Given the description of an element on the screen output the (x, y) to click on. 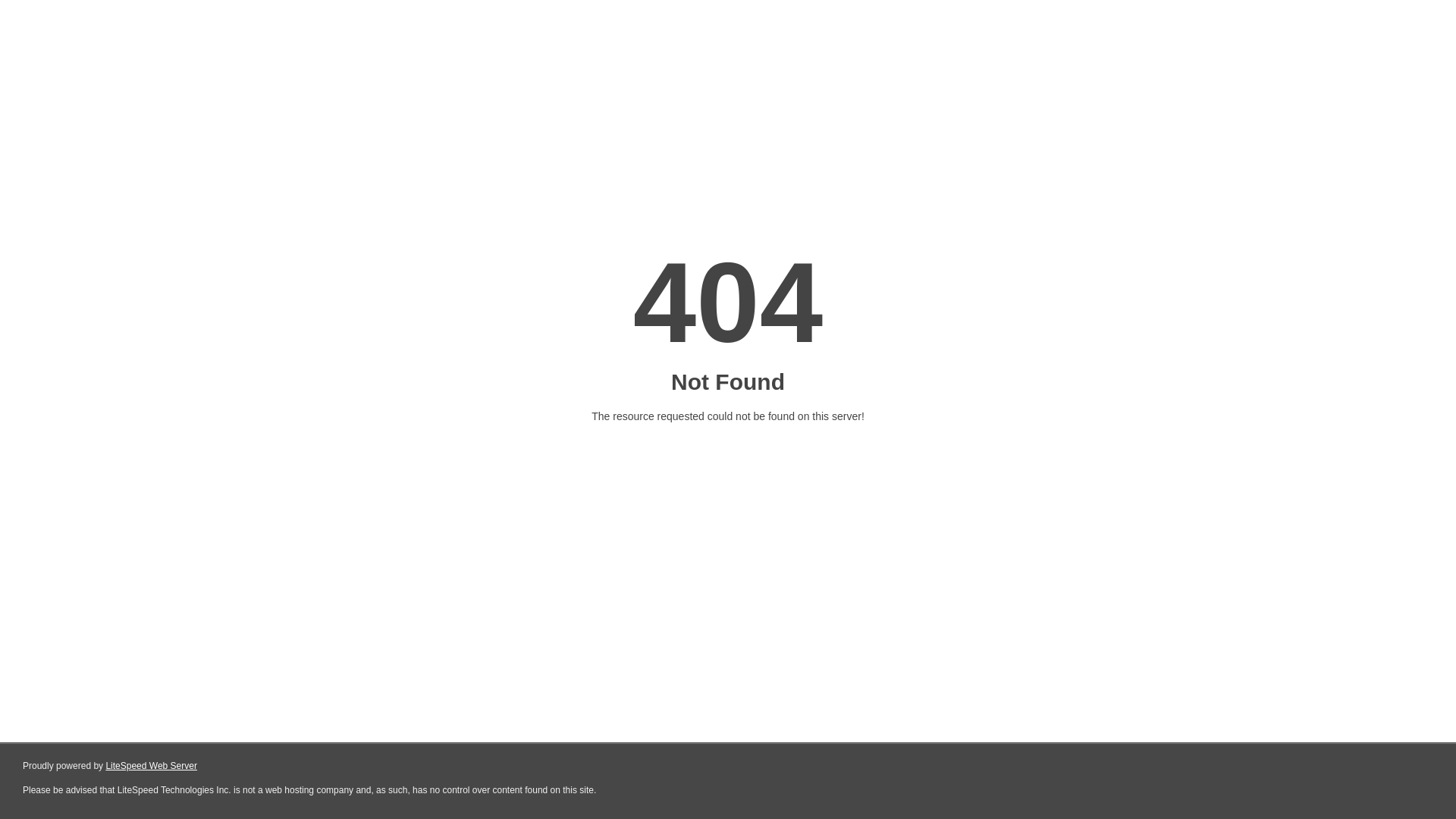
LiteSpeed Web Server Element type: text (151, 765)
